Given the description of an element on the screen output the (x, y) to click on. 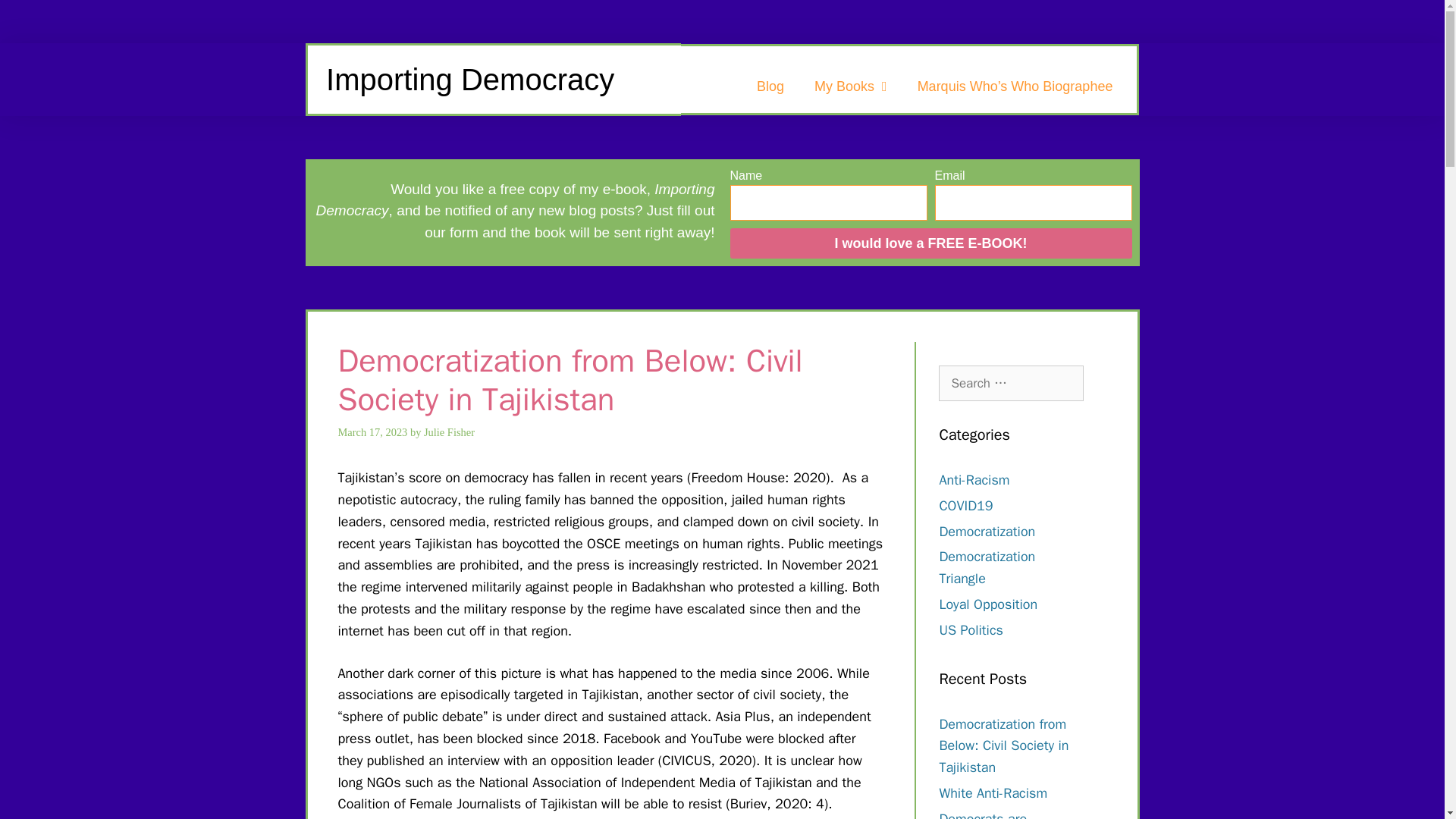
I would love a FREE E-BOOK! (930, 243)
Democratization Triangle (987, 567)
Loyal Opposition (987, 604)
Julie Fisher (448, 431)
My Books (850, 86)
View all posts by Julie Fisher (448, 431)
COVID19 (965, 505)
Anti-Racism (974, 479)
Search (35, 18)
US Politics (971, 629)
